Given the description of an element on the screen output the (x, y) to click on. 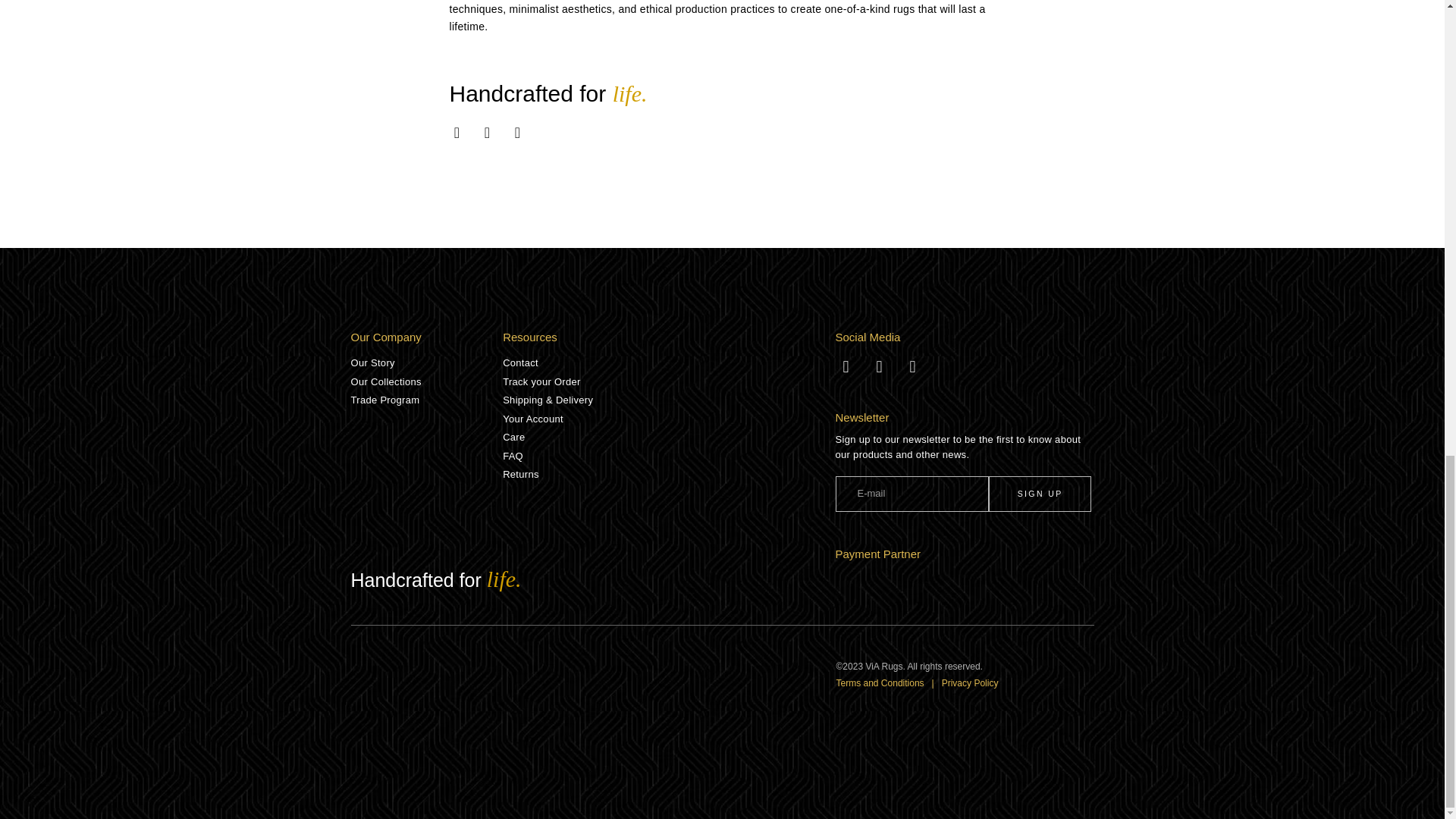
Contact (668, 363)
FAQ (668, 456)
Track your Order (668, 381)
Care (668, 437)
Your Account (668, 418)
Returns (668, 474)
Our Story (426, 363)
Our Collections (426, 381)
SIGN UP (1039, 493)
Trade Program (426, 400)
